Given the description of an element on the screen output the (x, y) to click on. 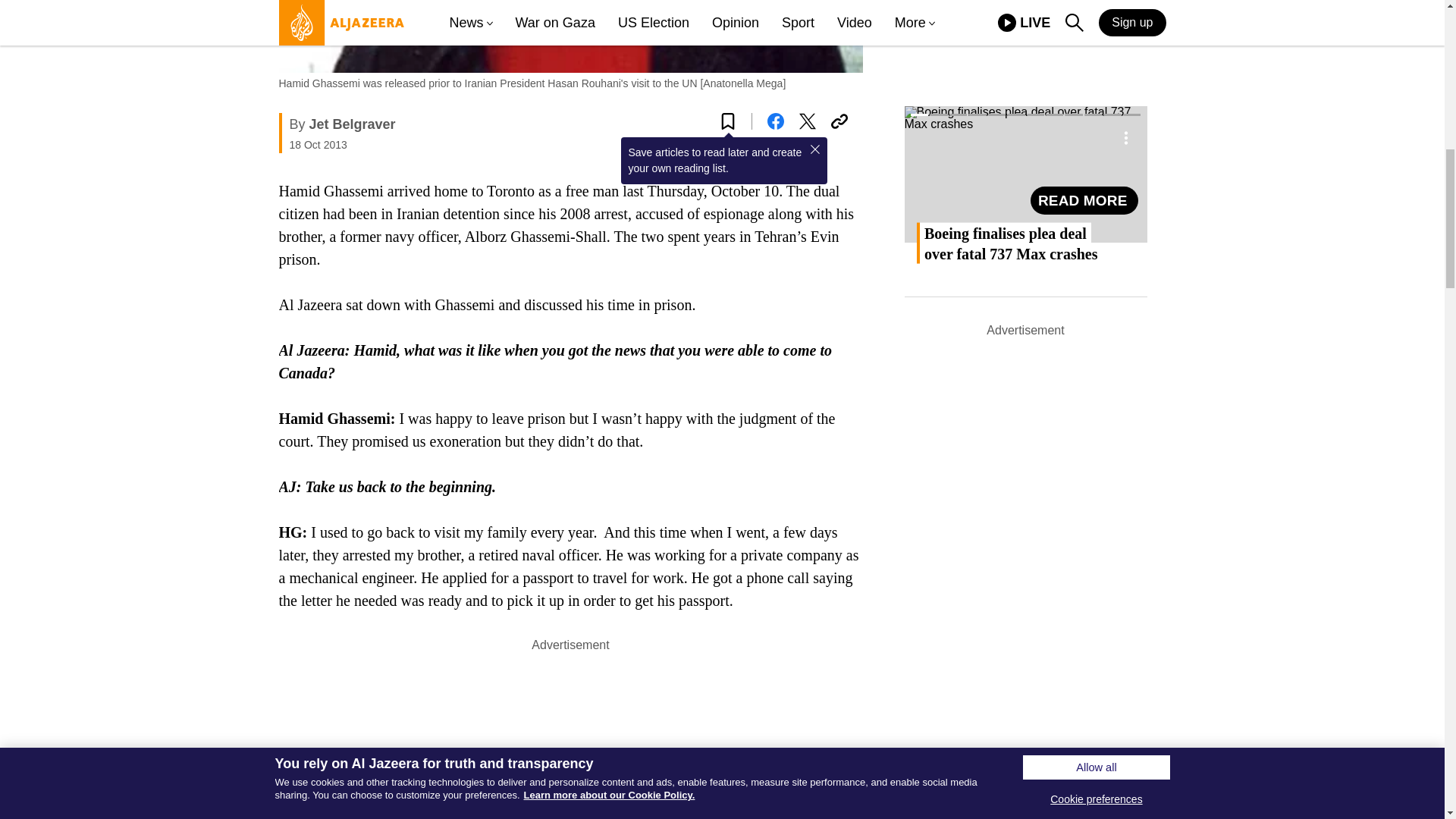
Close Tooltip (814, 149)
twitter (807, 121)
copylink (839, 121)
copylink (839, 121)
facebook (775, 121)
facebook (775, 121)
Jet Belgraver (352, 124)
3rd party ad content (570, 737)
twitter (807, 121)
